Given the description of an element on the screen output the (x, y) to click on. 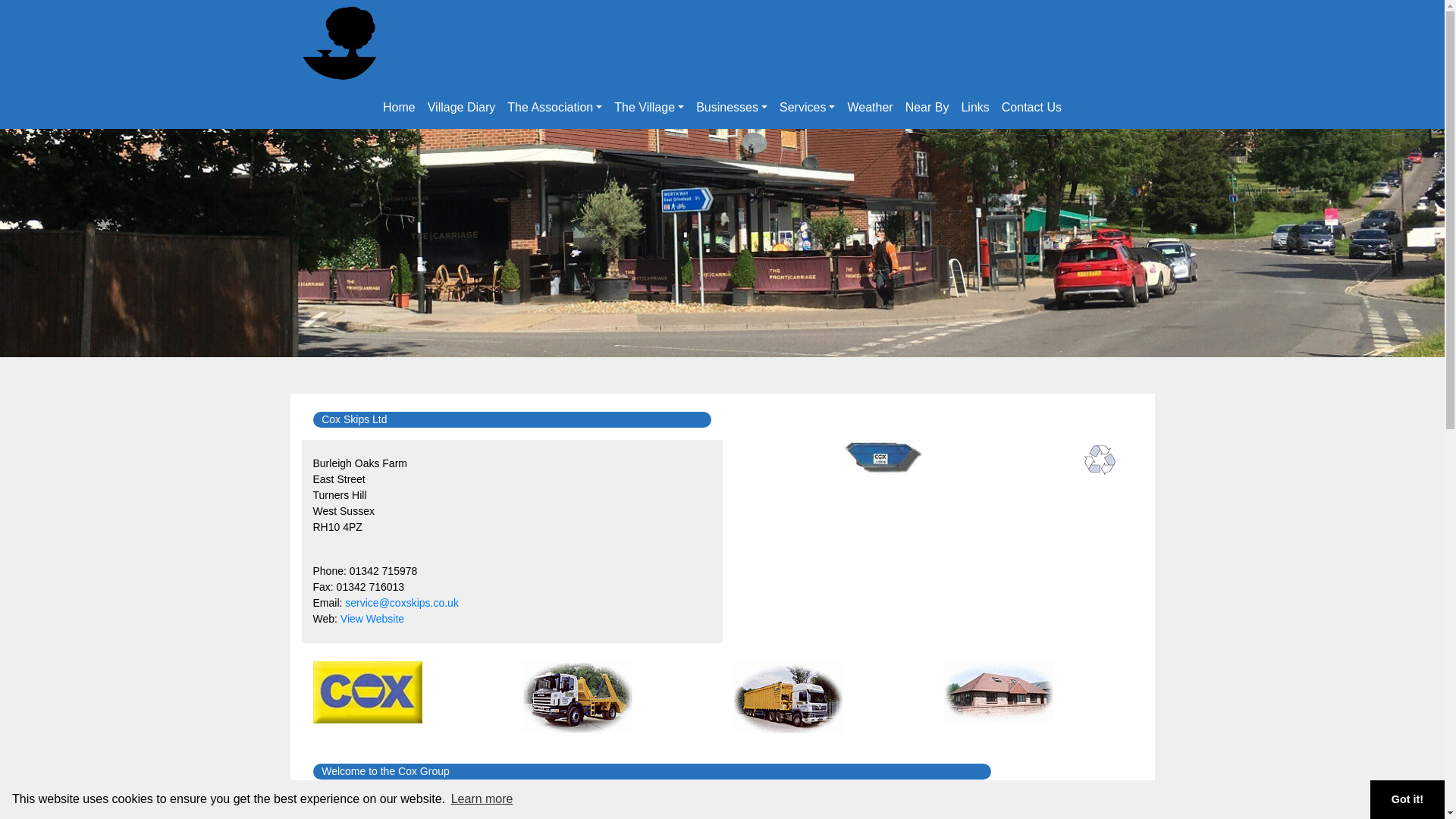
Home (399, 107)
Home (399, 107)
Contact Us (1031, 107)
Learn more (481, 798)
Contact Us (1031, 107)
The Village (649, 107)
Weather (869, 107)
Links (974, 107)
Services (807, 107)
Village Diary (462, 107)
View Website (372, 618)
The Association (554, 107)
Businesses (731, 107)
Near By (927, 107)
Village Diary (462, 107)
